Given the description of an element on the screen output the (x, y) to click on. 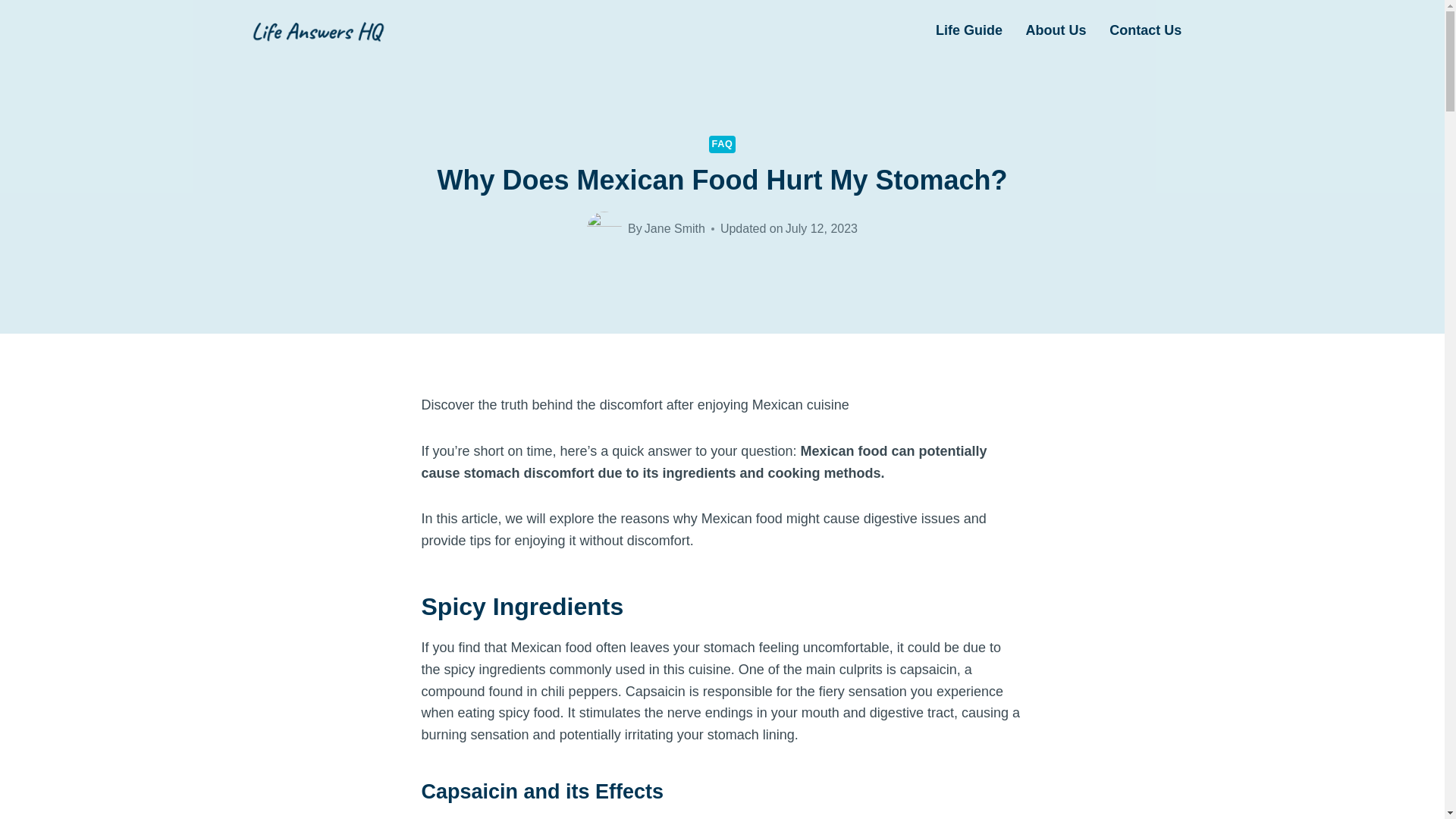
Life Guide (969, 30)
FAQ (722, 144)
Jane Smith (674, 228)
Contact Us (1145, 30)
About Us (1055, 30)
